Given the description of an element on the screen output the (x, y) to click on. 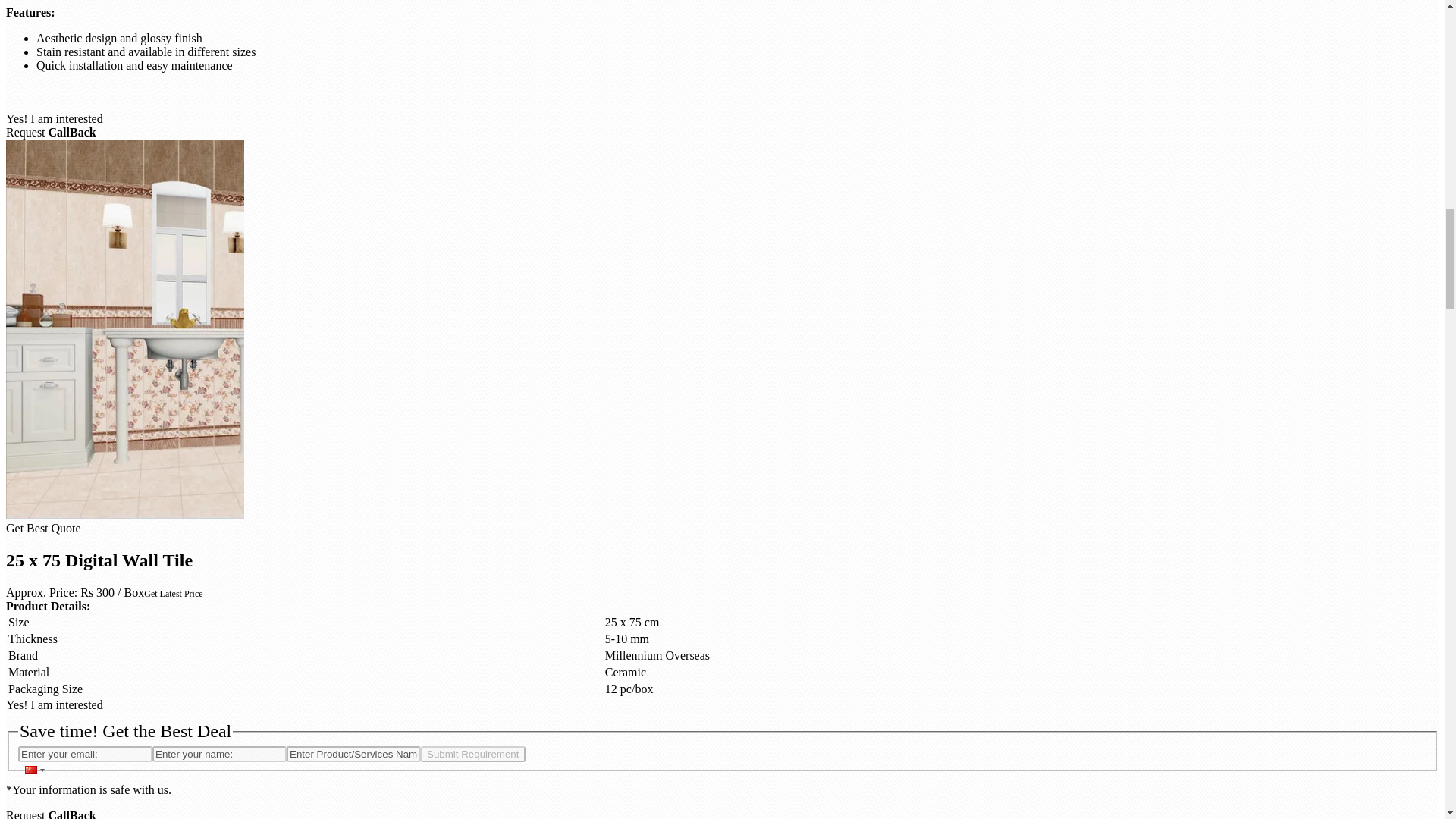
Submit Requirement (472, 754)
Enter your email: (84, 754)
Submit Requirement (472, 754)
Enter your name: (219, 754)
